Given the description of an element on the screen output the (x, y) to click on. 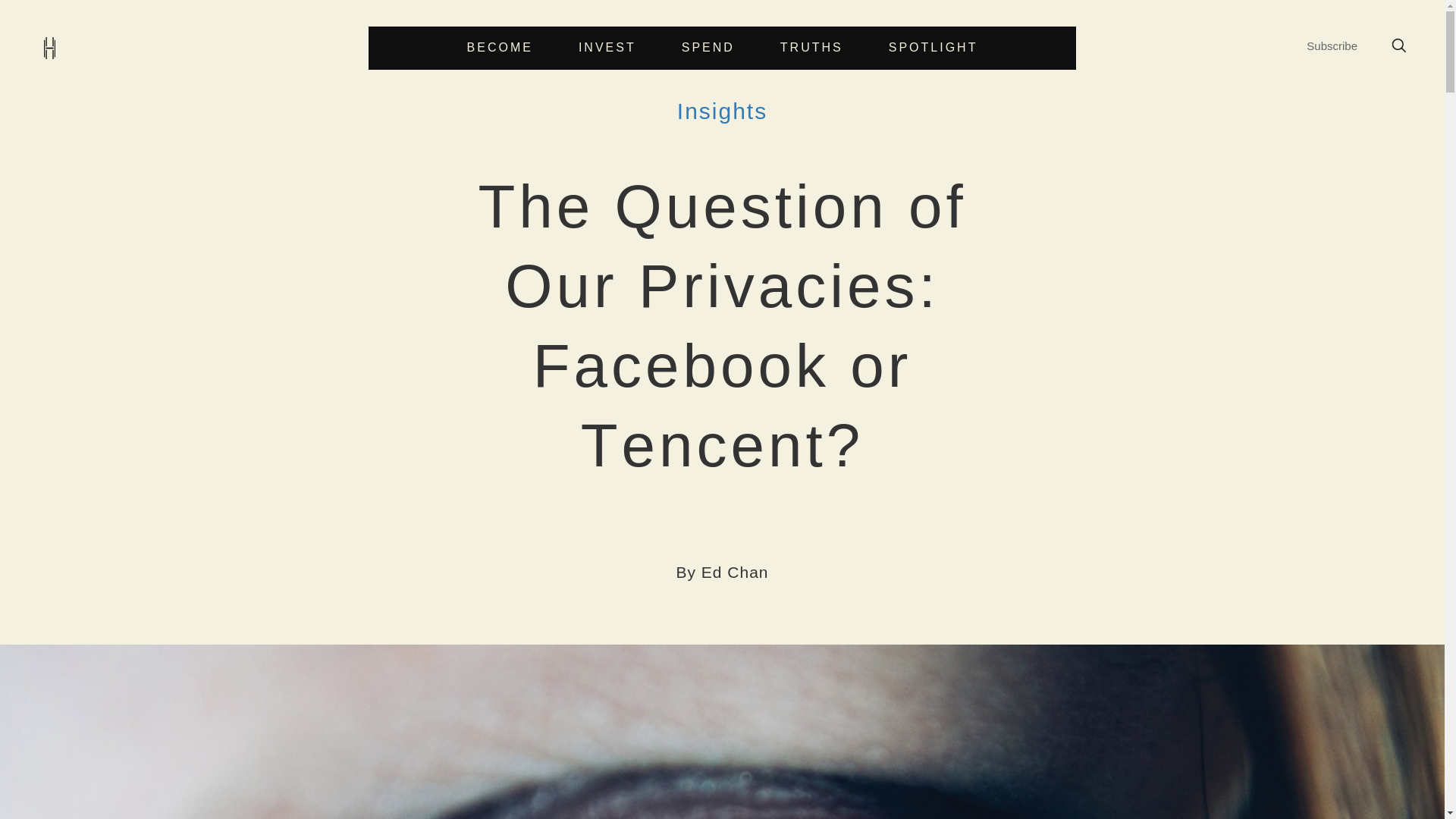
Subscribe (1331, 45)
INVEST (606, 48)
Search (861, 406)
BECOME (500, 48)
